Given the description of an element on the screen output the (x, y) to click on. 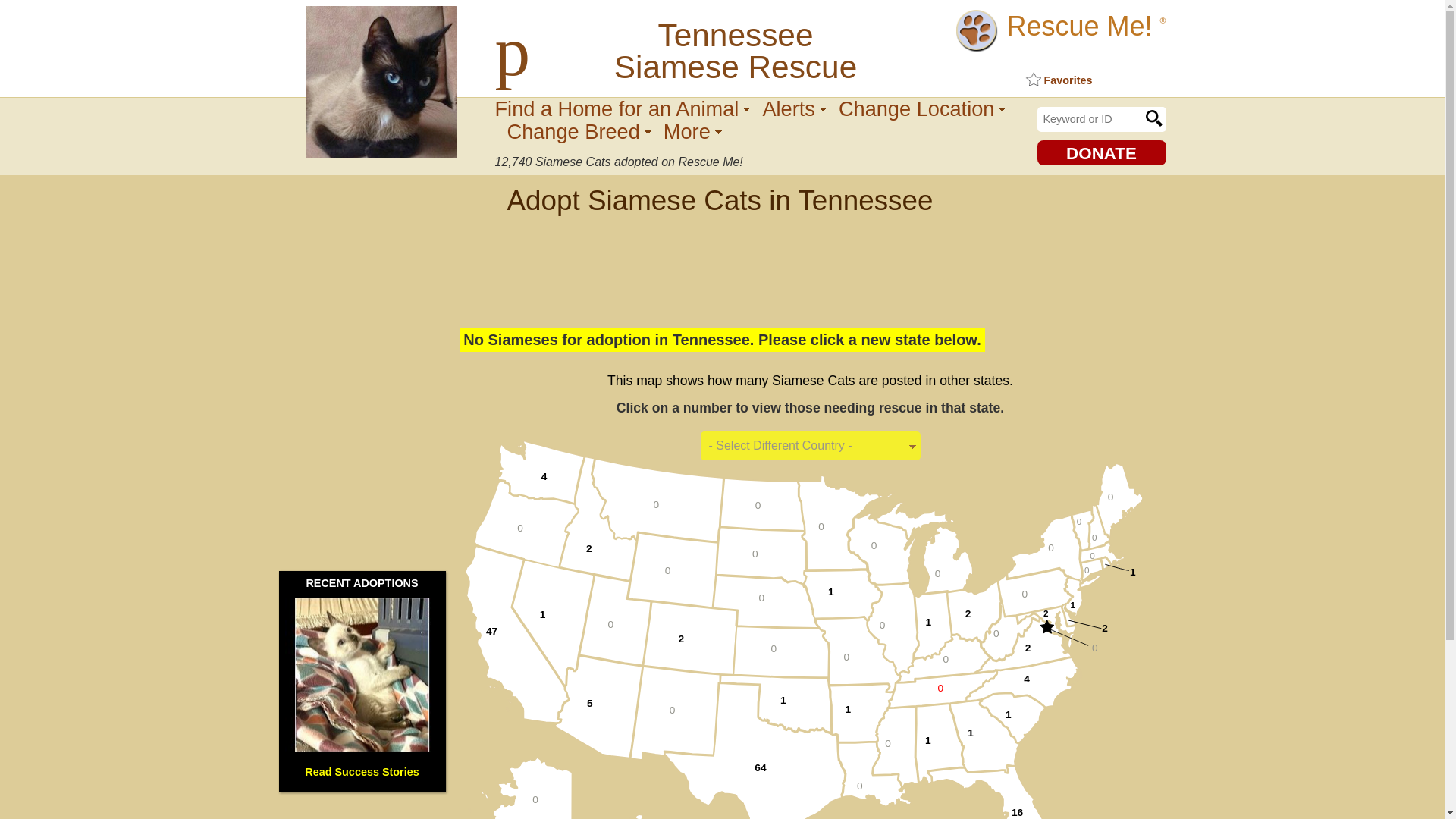
Find a Home for an Animal (622, 108)
Alerts (794, 108)
Change Breed (578, 131)
Change Location (922, 108)
submit (1152, 118)
Advertisement (721, 261)
DONATE (1101, 152)
More (692, 131)
Favorites (1057, 80)
